Given the description of an element on the screen output the (x, y) to click on. 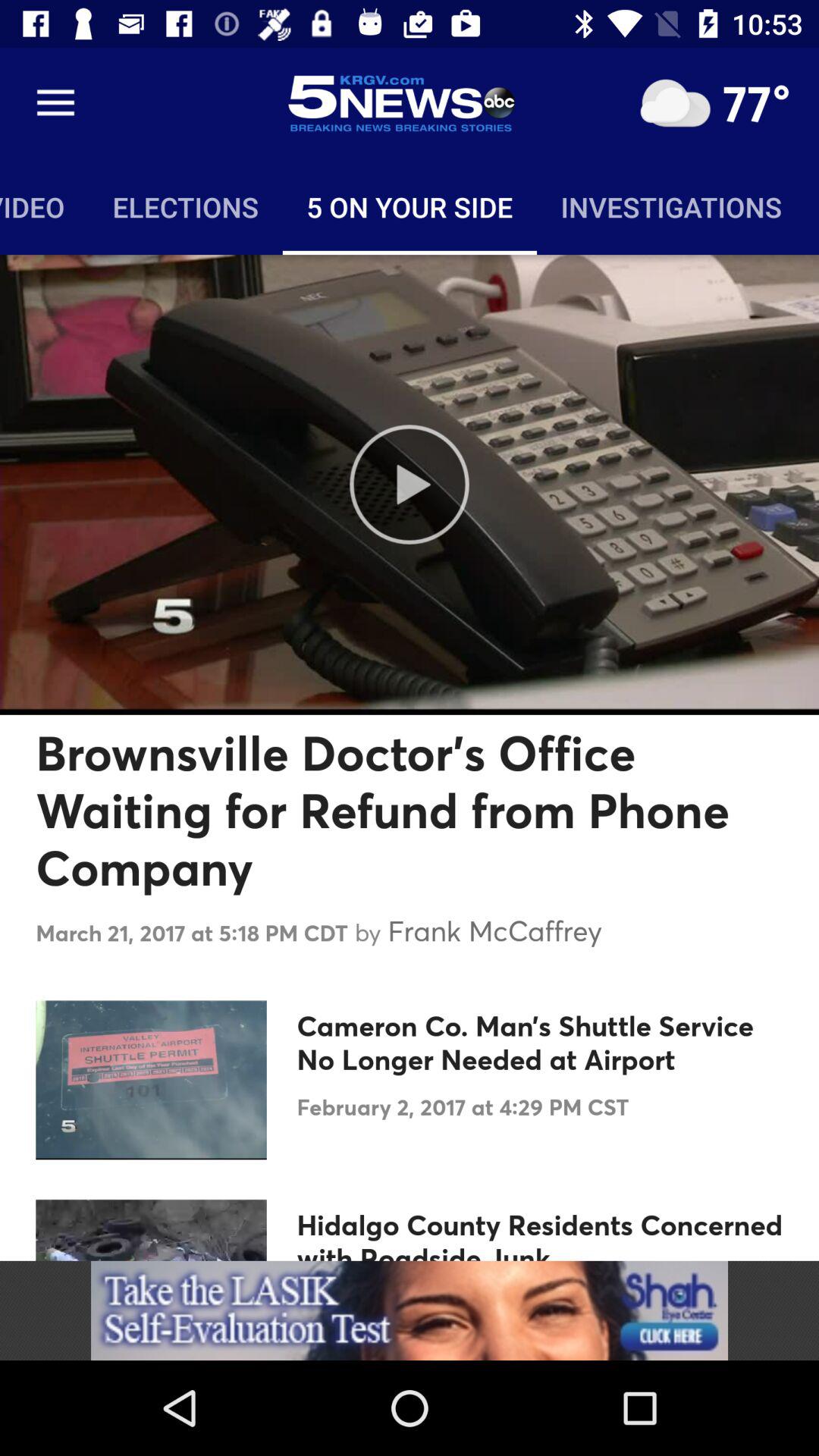
advertisement link (409, 1310)
